Given the description of an element on the screen output the (x, y) to click on. 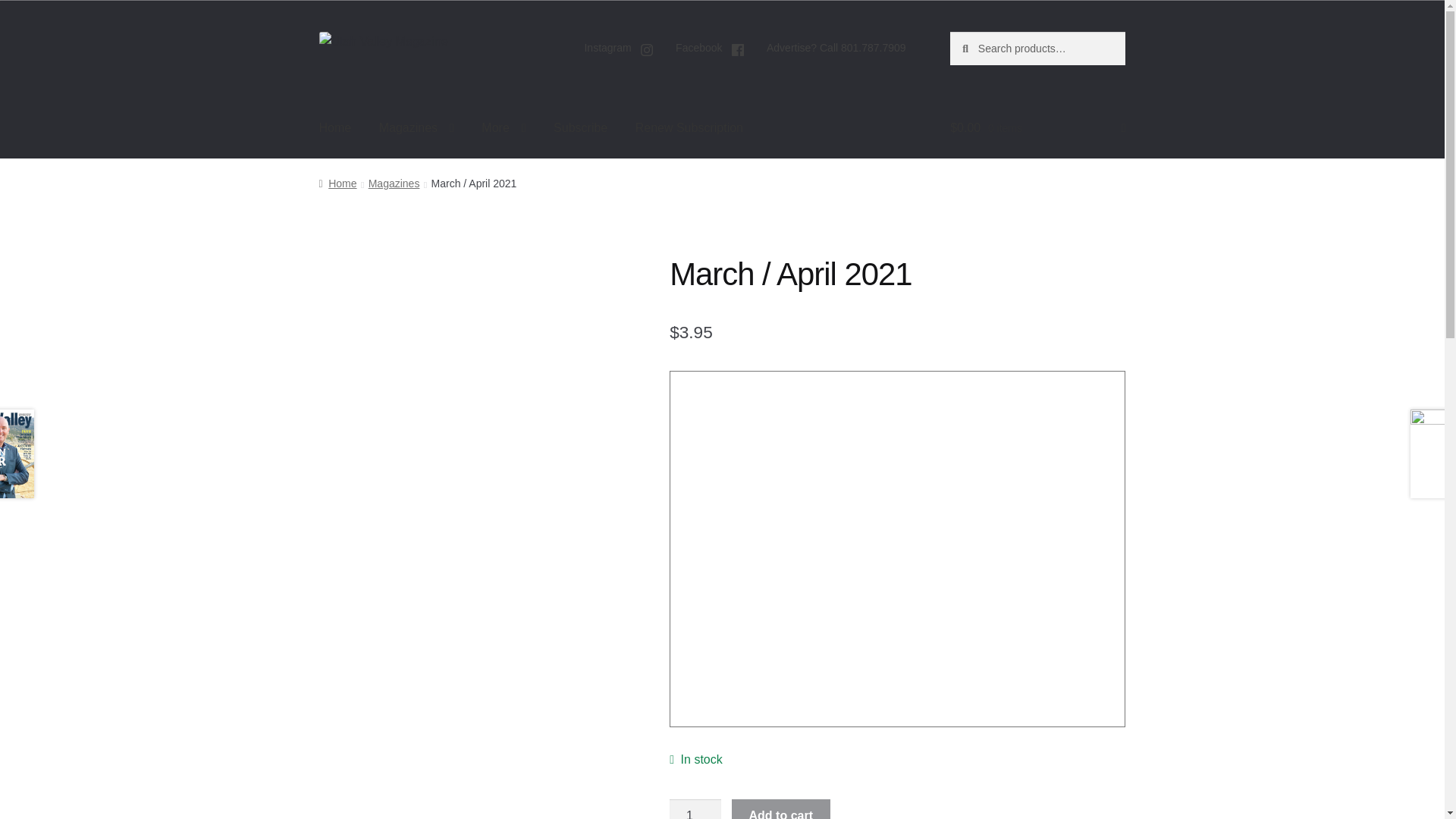
Instagram (619, 49)
Facebook (710, 49)
1 (694, 809)
Magazines (415, 128)
Home (335, 128)
Advertise? Call 801.787.7909 (836, 47)
View your shopping cart (1037, 128)
